Given the description of an element on the screen output the (x, y) to click on. 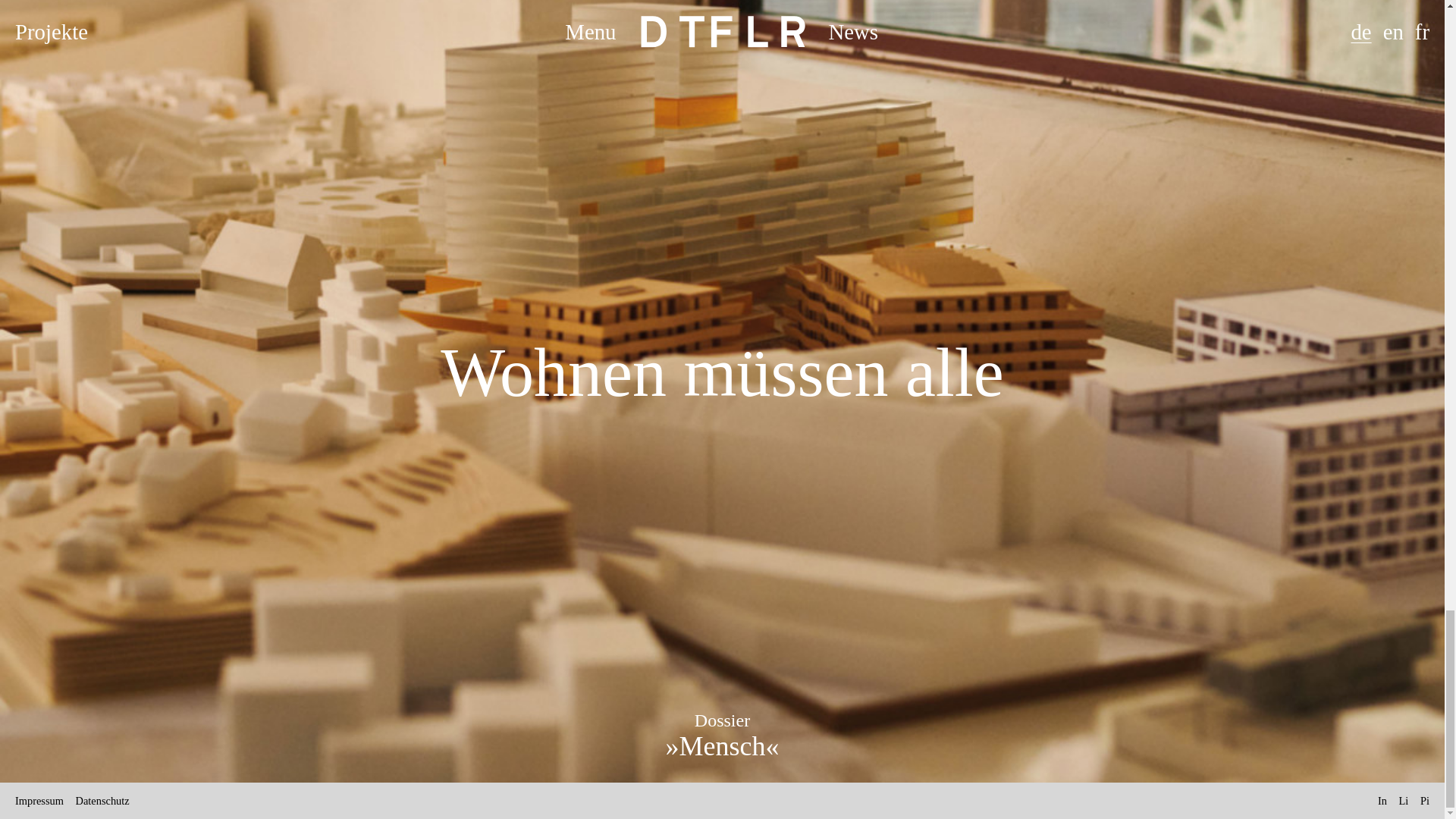
Impressum (39, 800)
Datenschutz (102, 800)
